Given the description of an element on the screen output the (x, y) to click on. 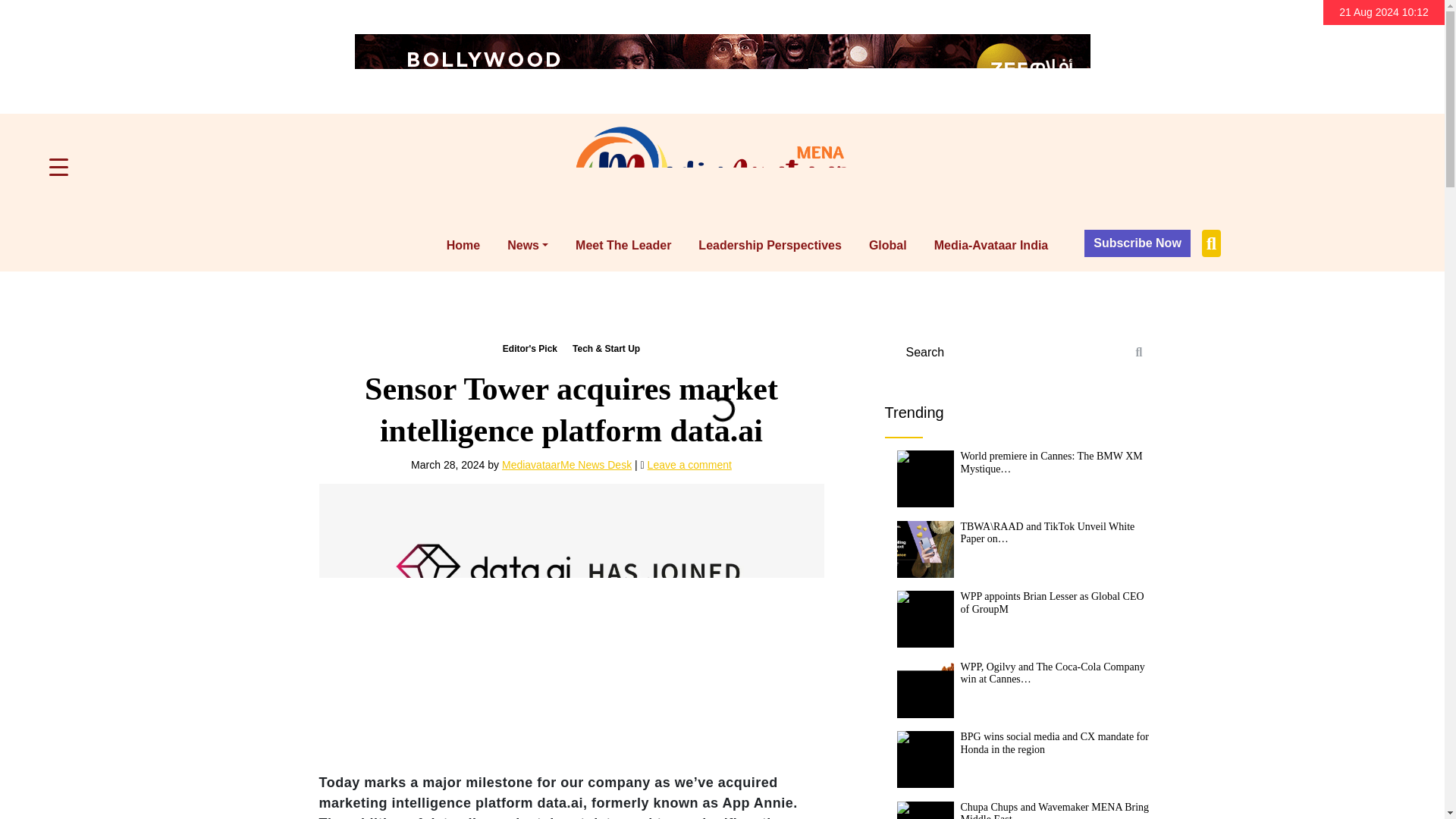
Global (887, 245)
Media-Avataar India (991, 245)
Meet The Leader (623, 245)
BPG wins social media and CX mandate for Honda in the region (924, 759)
Leadership Perspectives (770, 245)
News (527, 245)
Subscribe Now (1137, 243)
